Given the description of an element on the screen output the (x, y) to click on. 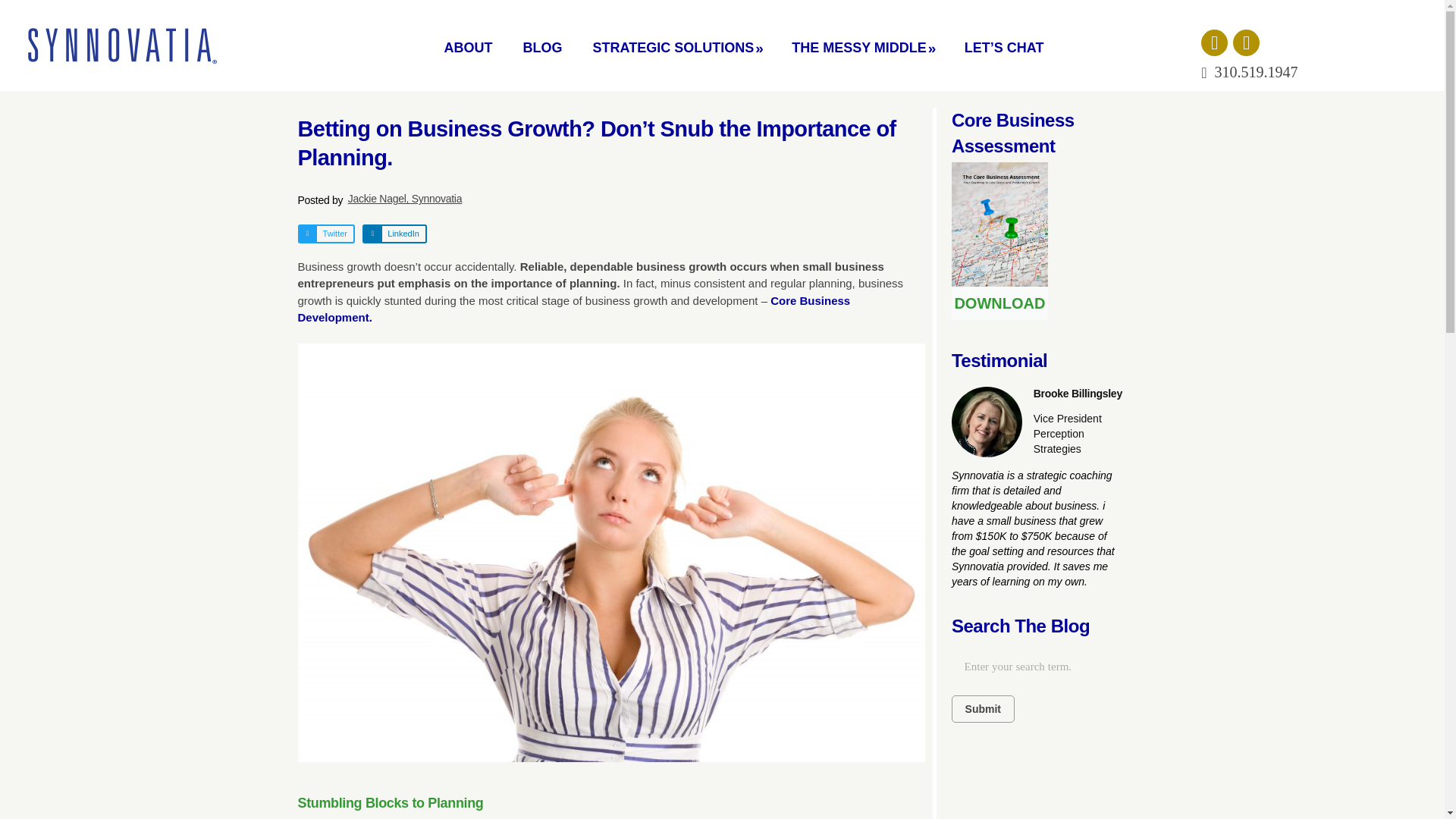
310.519.1947 (1249, 73)
ABOUT (467, 47)
THE MESSY MIDDLE (862, 47)
BLOG (541, 47)
Jackie Nagel, Synnovatia (635, 198)
Core Business Assessment (1013, 132)
Core Business Development. (573, 309)
Core Business Development. (573, 309)
STRATEGIC SOLUTIONS (676, 47)
